Given the description of an element on the screen output the (x, y) to click on. 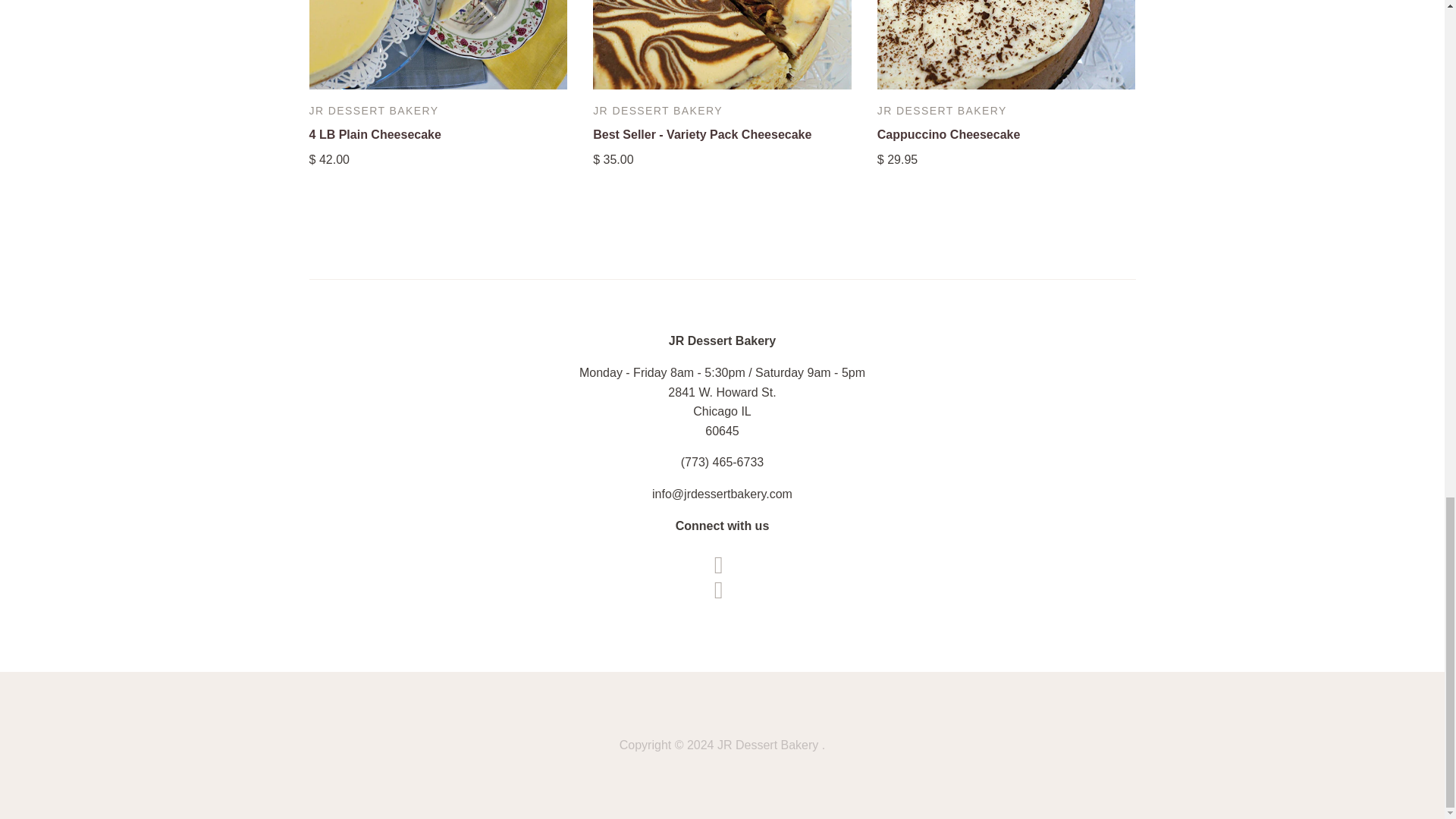
Best Seller - Variety Pack Cheesecake (701, 133)
4 LB Plain Cheesecake (374, 133)
Cappuccino Cheesecake (948, 133)
JR DESSERT BAKERY (657, 110)
JR DESSERT BAKERY (373, 110)
JR DESSERT BAKERY (942, 110)
